Given the description of an element on the screen output the (x, y) to click on. 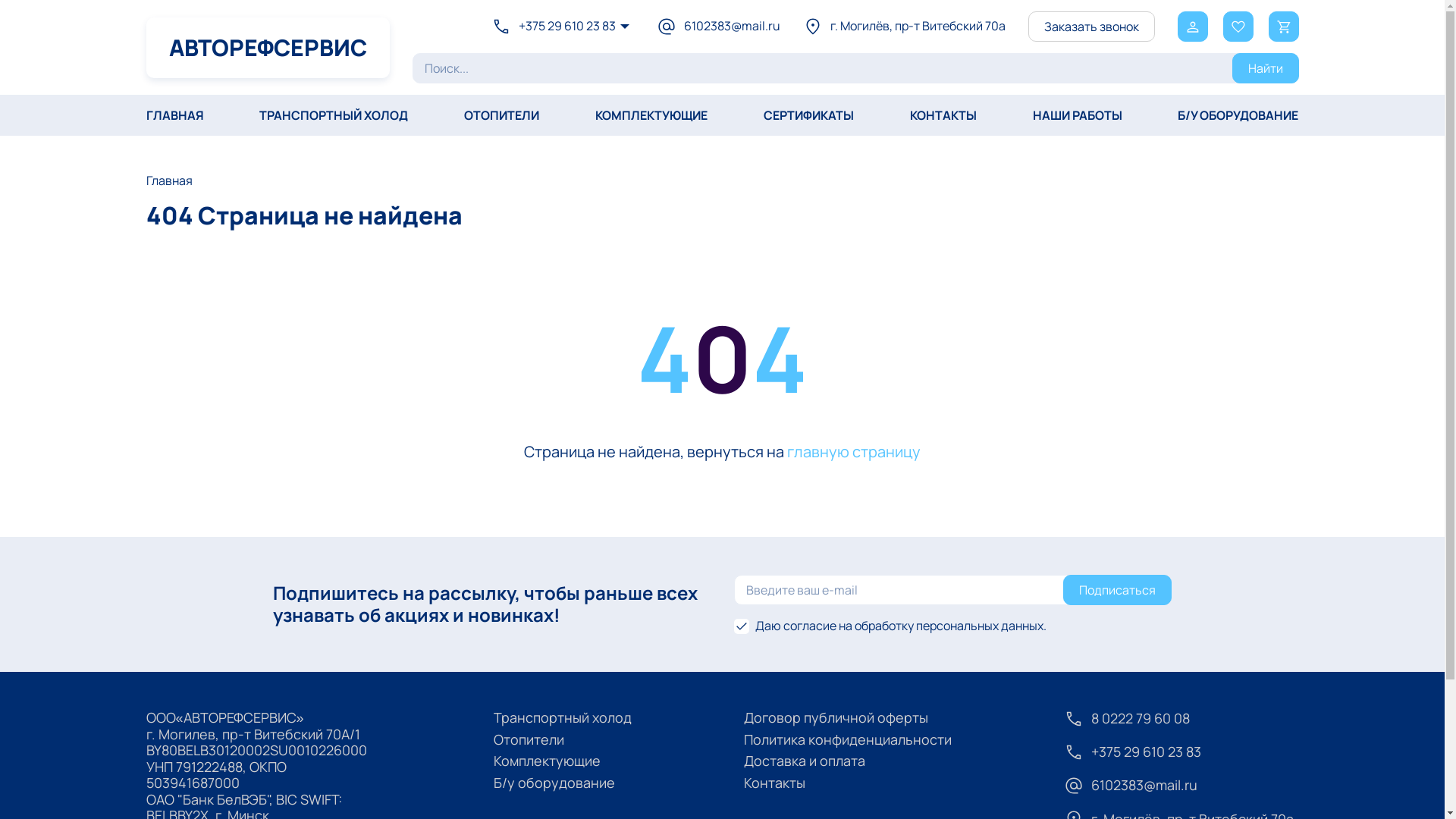
6102383@mail.ru Element type: text (1180, 785)
+375 29 610 23 83 Element type: text (553, 26)
8 0222 79 60 08 Element type: text (1180, 718)
6102383@mail.ru Element type: text (718, 26)
+375 29 610 23 83 Element type: text (1180, 752)
